Given the description of an element on the screen output the (x, y) to click on. 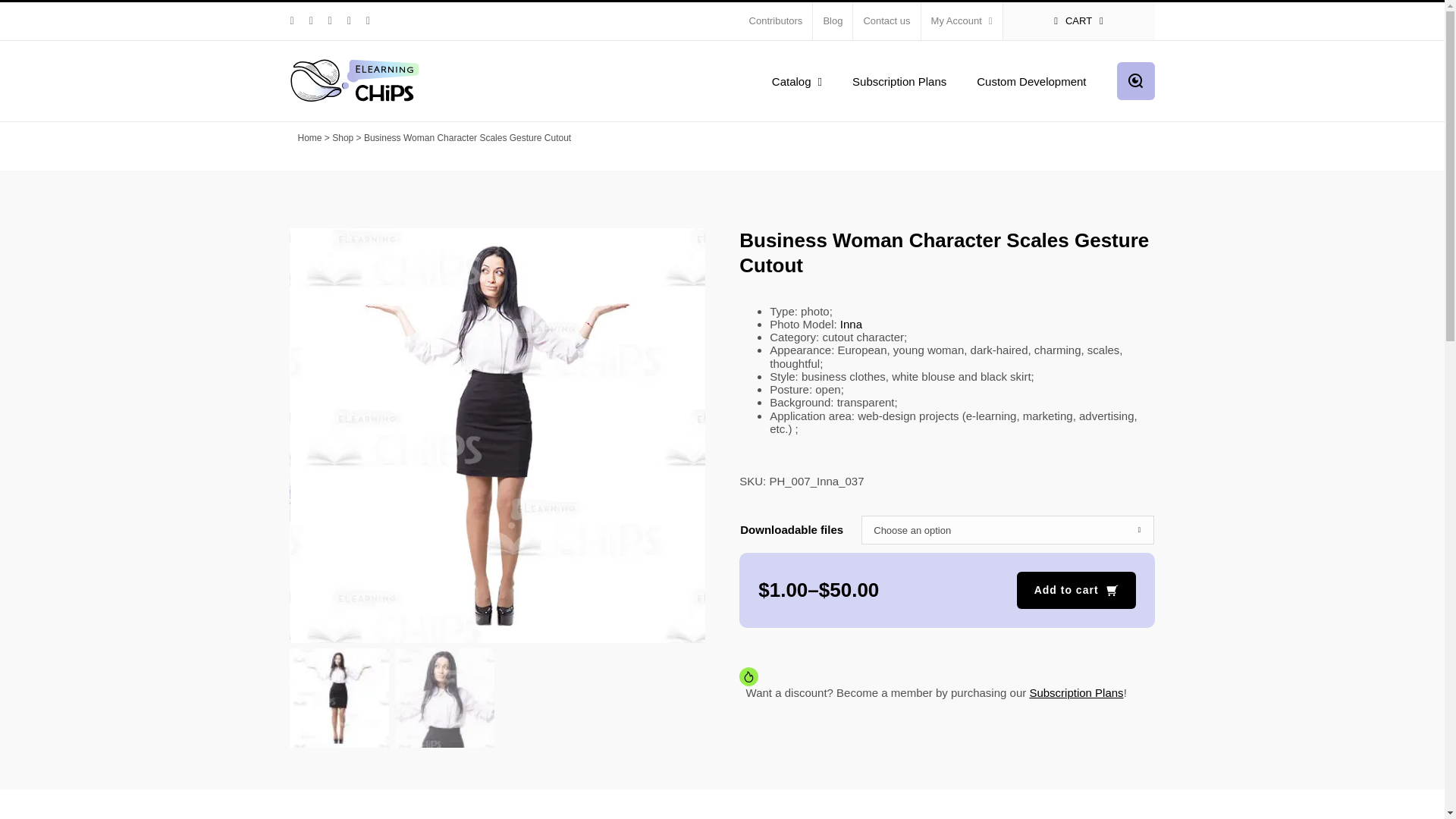
Log In (1025, 165)
Contributors (775, 21)
Subscription Plans (898, 79)
CART (1078, 21)
Contact us (886, 21)
Custom Development (1031, 79)
My Account (962, 21)
Search (1135, 80)
Blog (831, 21)
